Given the description of an element on the screen output the (x, y) to click on. 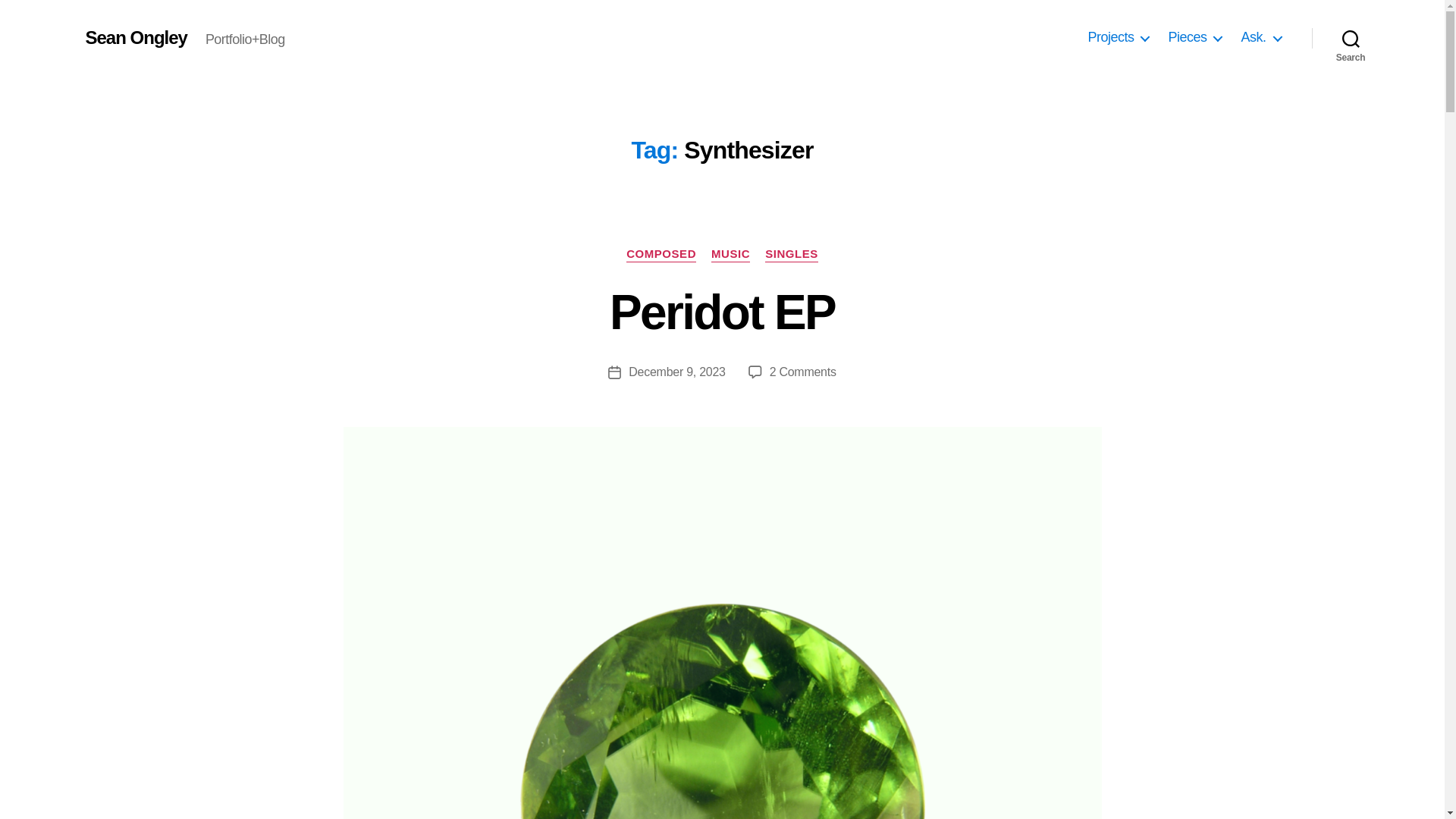
Search (1350, 37)
Ask. (1260, 37)
Pieces (1194, 37)
Projects (1117, 37)
Sean Ongley (135, 37)
